Given the description of an element on the screen output the (x, y) to click on. 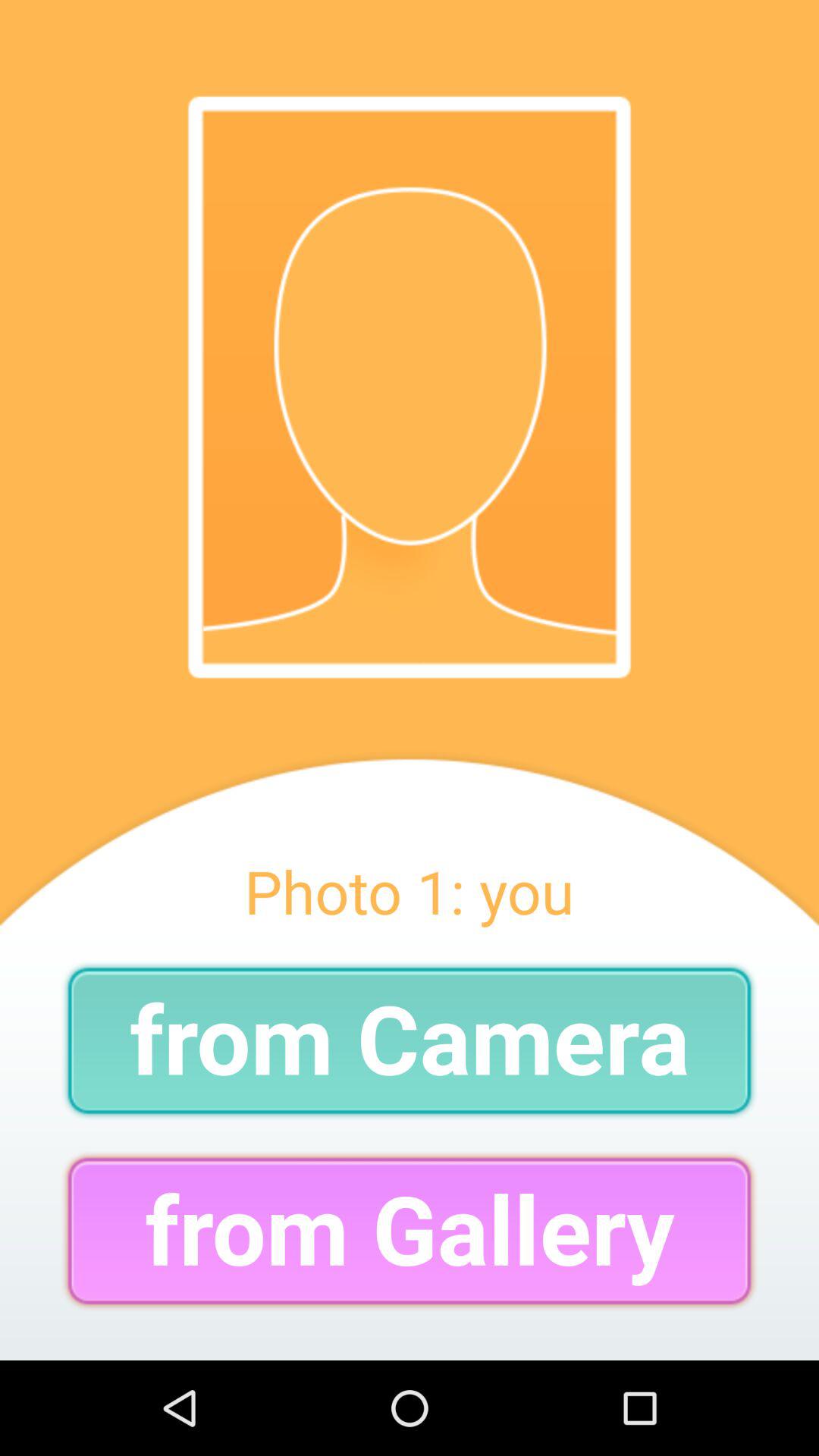
turn off item above from gallery item (409, 1040)
